Given the description of an element on the screen output the (x, y) to click on. 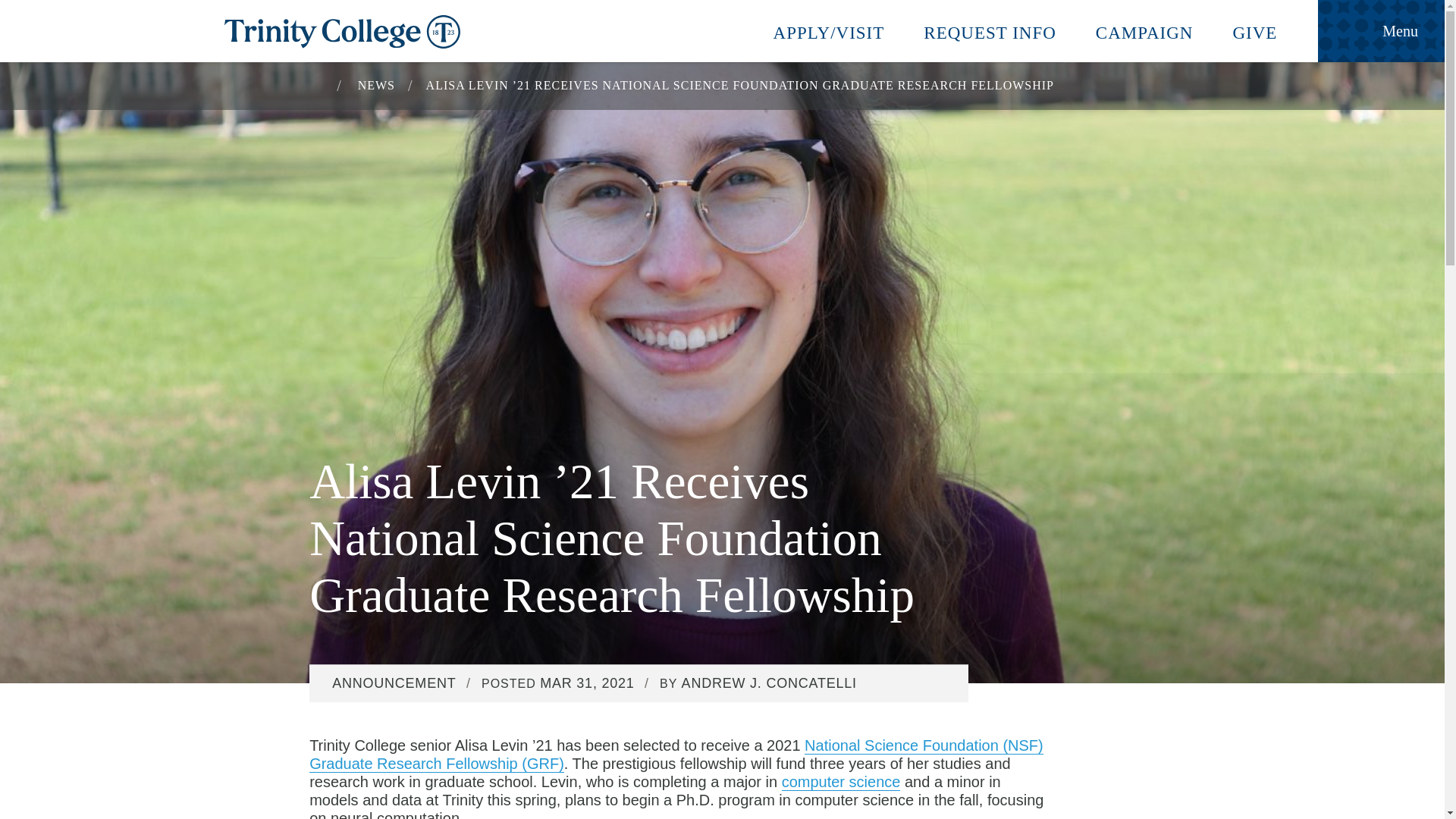
CAMPAIGN (1144, 30)
Trinity College (722, 31)
REQUEST INFO (989, 30)
NEWS (376, 85)
HOME (315, 83)
computer science (841, 782)
GIVE (1254, 30)
